Given the description of an element on the screen output the (x, y) to click on. 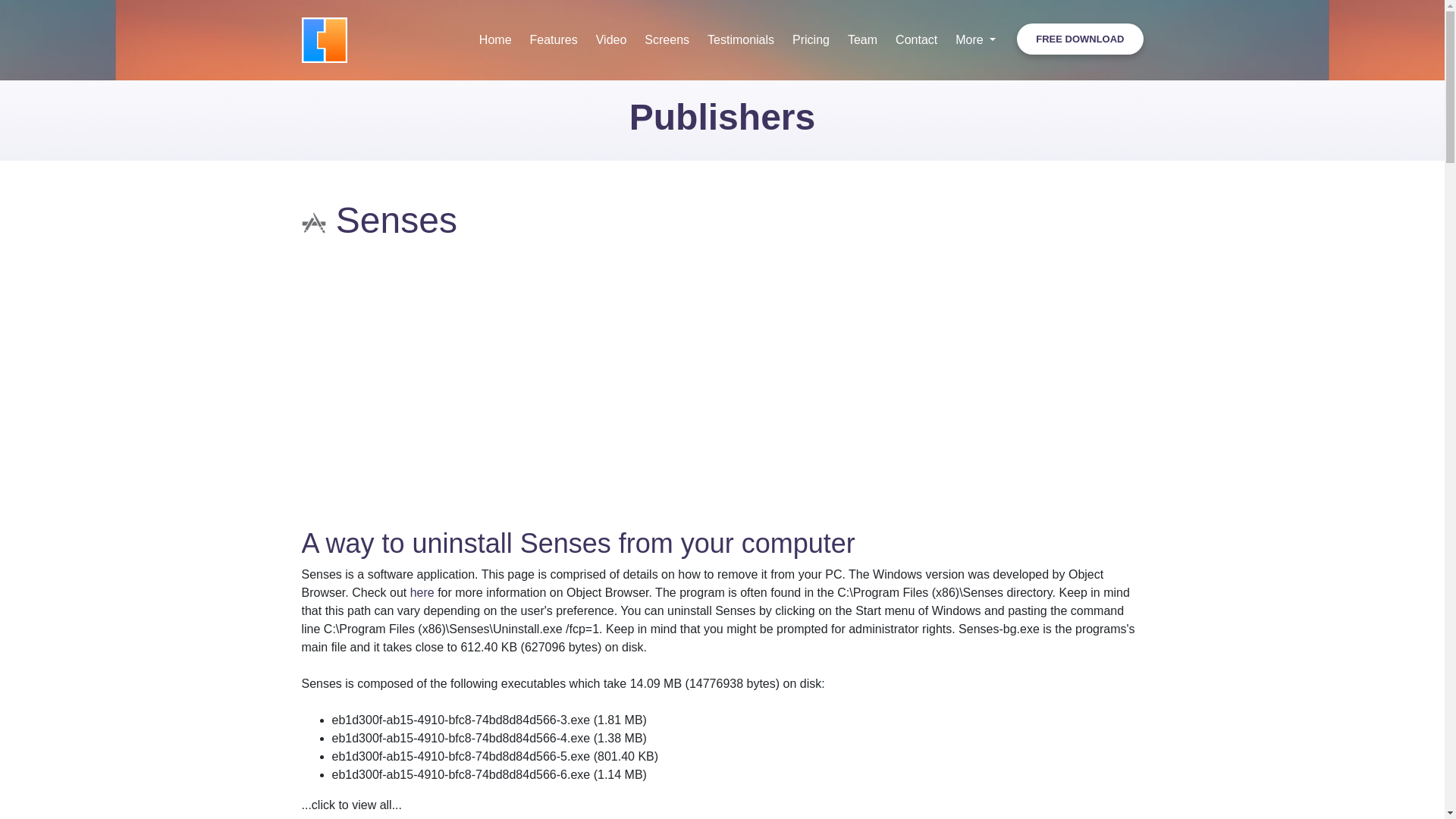
...click to view all... (351, 804)
Team (862, 39)
Contact (916, 39)
Testimonials (740, 39)
Home (495, 39)
Features (553, 39)
Pricing (810, 39)
Contact (916, 39)
Team (862, 39)
